Given the description of an element on the screen output the (x, y) to click on. 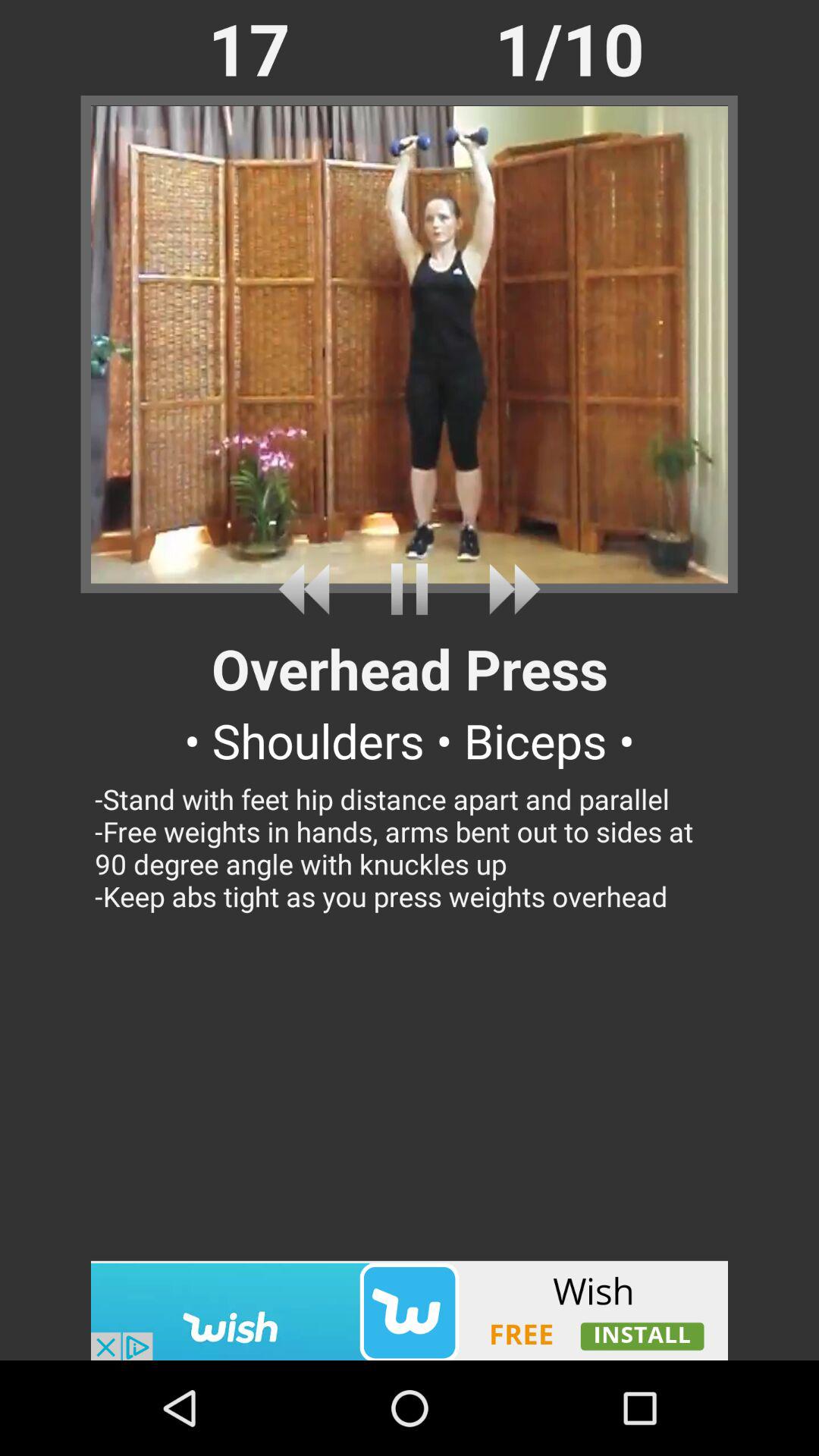
go back (309, 589)
